Given the description of an element on the screen output the (x, y) to click on. 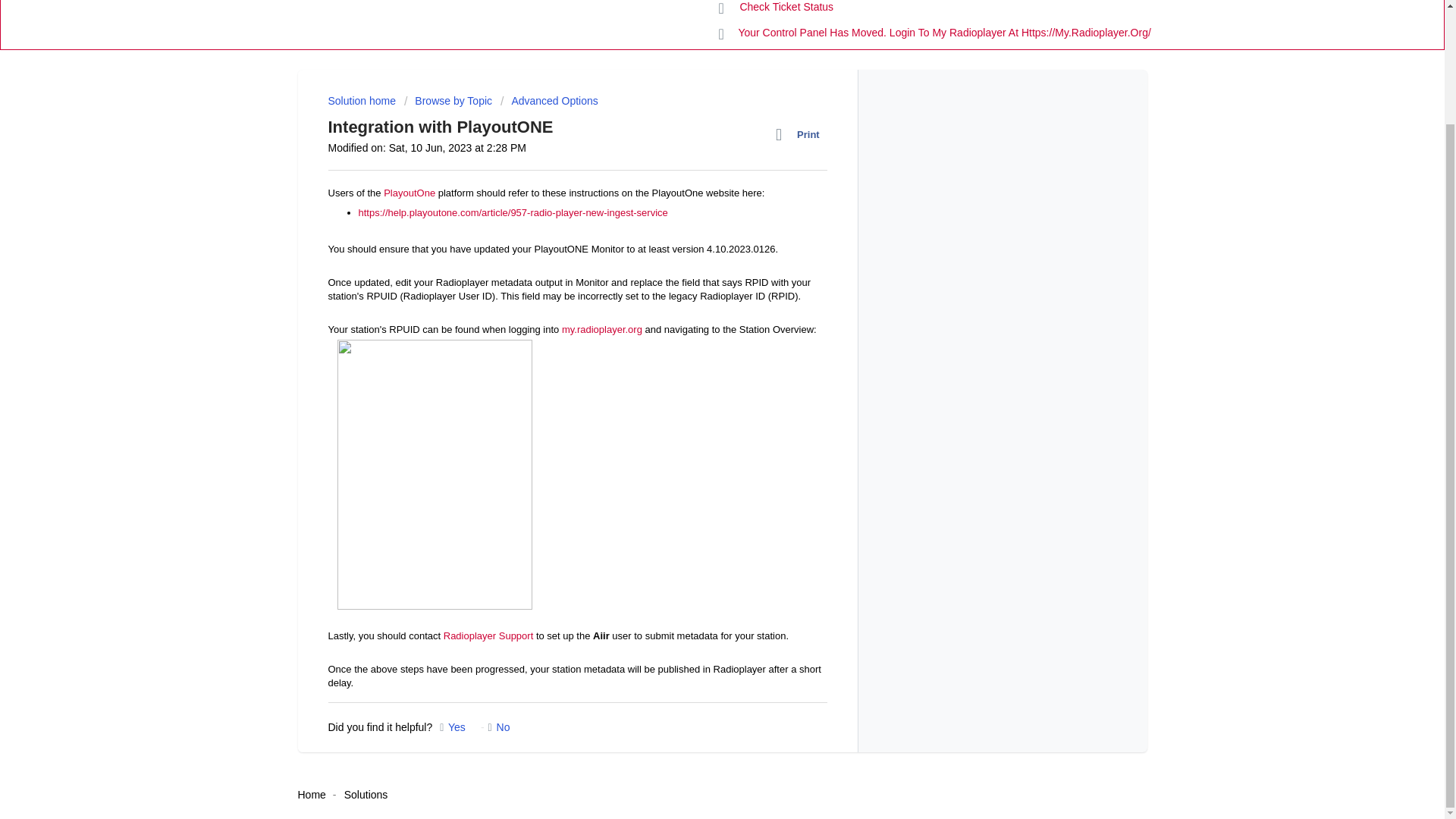
Solution home (362, 101)
Check Ticket Status (776, 10)
my.radioplayer.org (602, 328)
Check ticket status (776, 10)
Radioplayer Support (489, 634)
Solutions (365, 794)
Browse by Topic (448, 101)
Home (310, 794)
Advanced Options (549, 101)
PlayoutOne (409, 193)
